Given the description of an element on the screen output the (x, y) to click on. 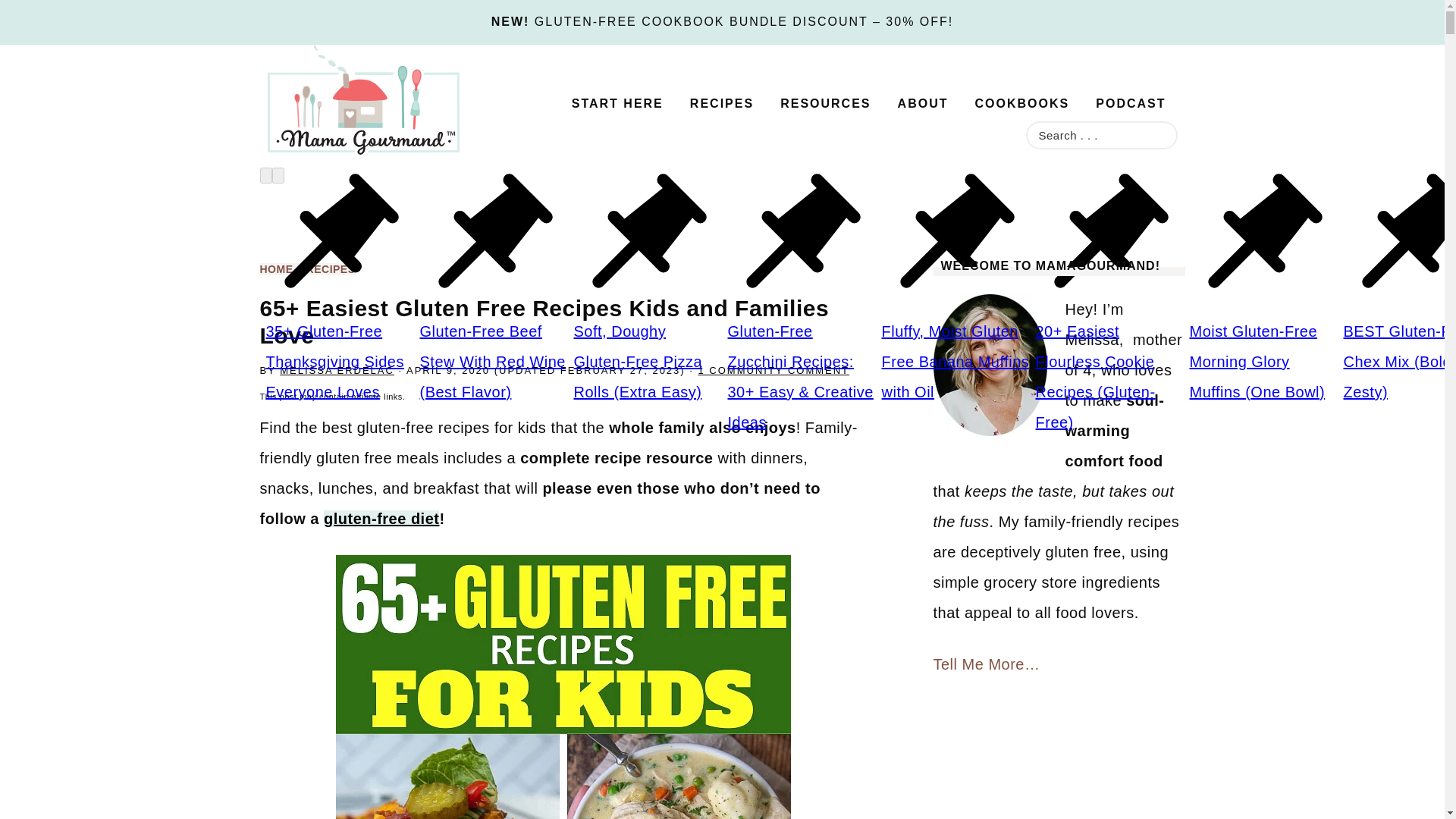
MAMAGOURMAND (403, 99)
